Given the description of an element on the screen output the (x, y) to click on. 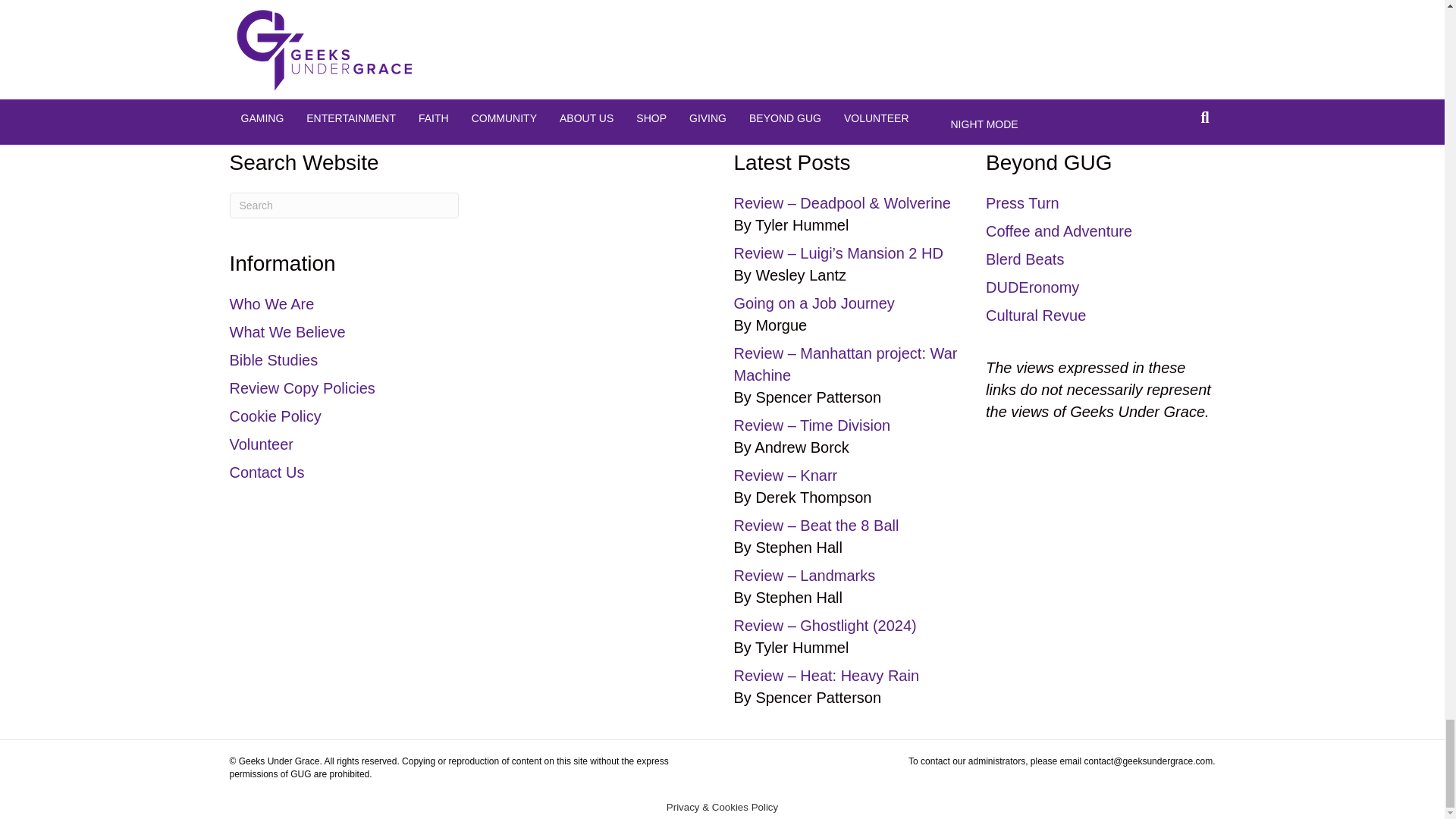
Submit Comment (391, 34)
Type and press Enter to search. (343, 205)
yes (339, 2)
